Given the description of an element on the screen output the (x, y) to click on. 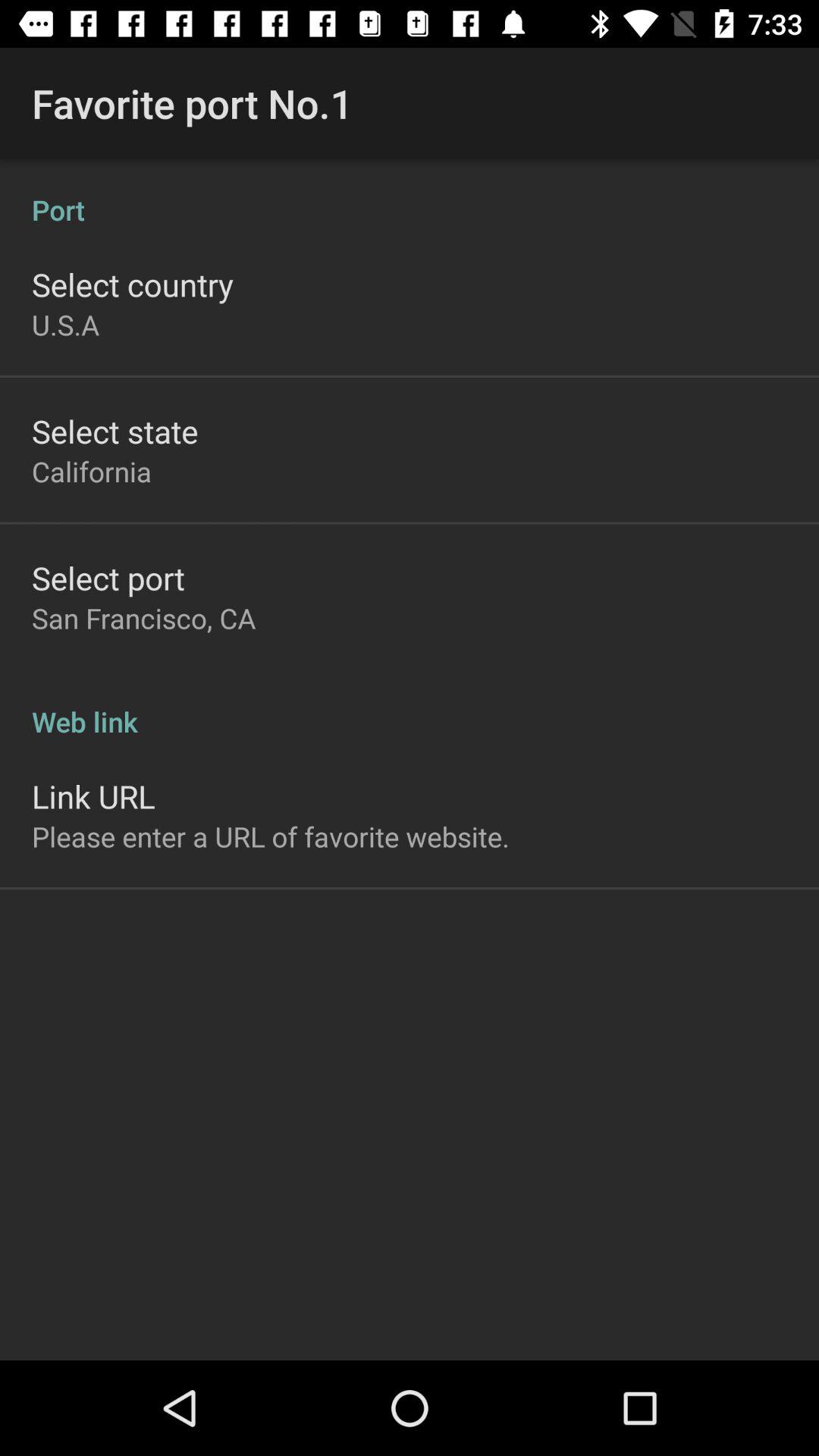
press please enter a app (270, 836)
